Given the description of an element on the screen output the (x, y) to click on. 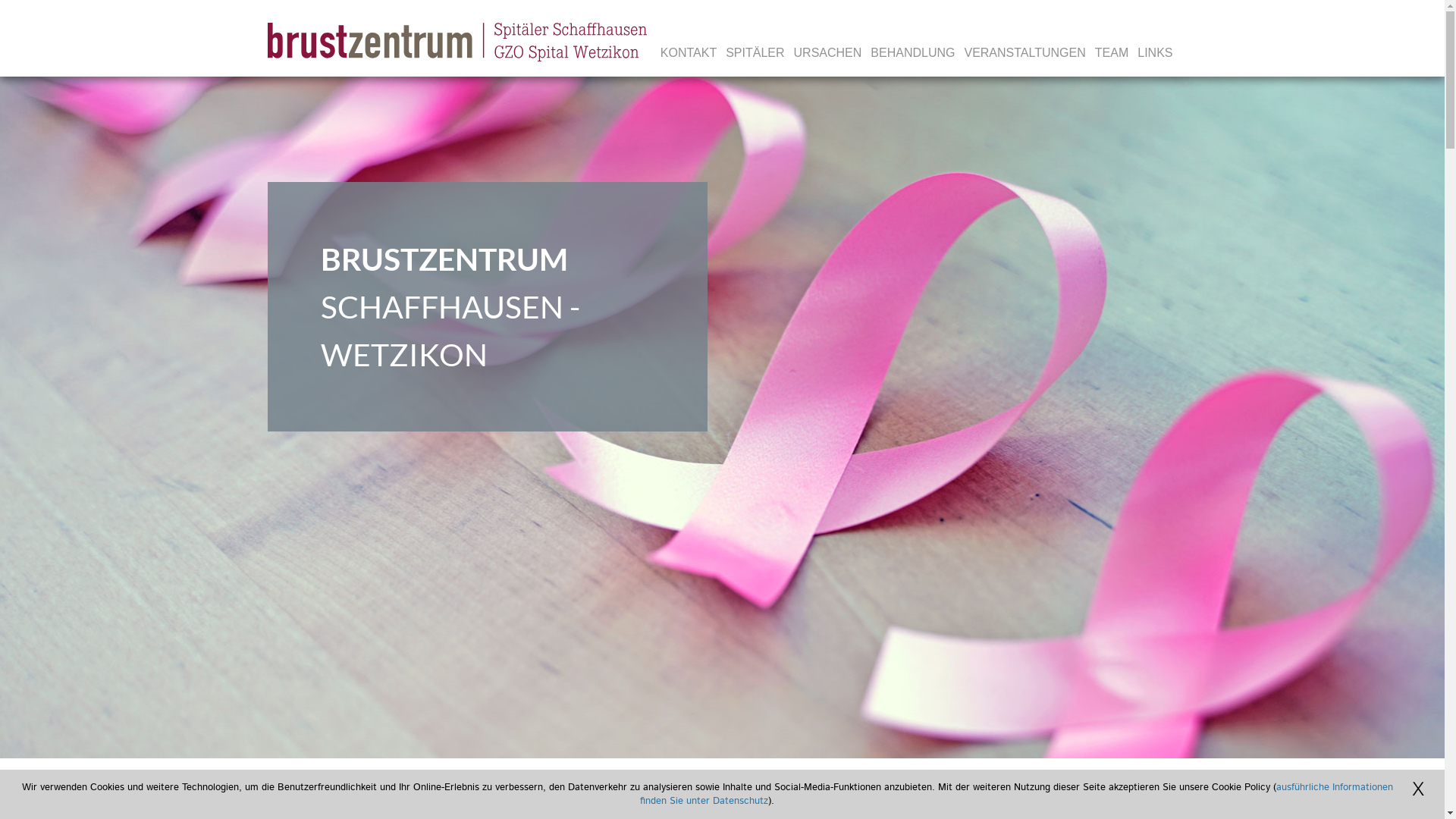
VERANSTALTUNGEN Element type: text (1024, 52)
KONTAKT Element type: text (688, 52)
BEHANDLUNG Element type: text (912, 52)
LINKS Element type: text (1154, 52)
URSACHEN Element type: text (827, 52)
TEAM Element type: text (1111, 52)
